Given the description of an element on the screen output the (x, y) to click on. 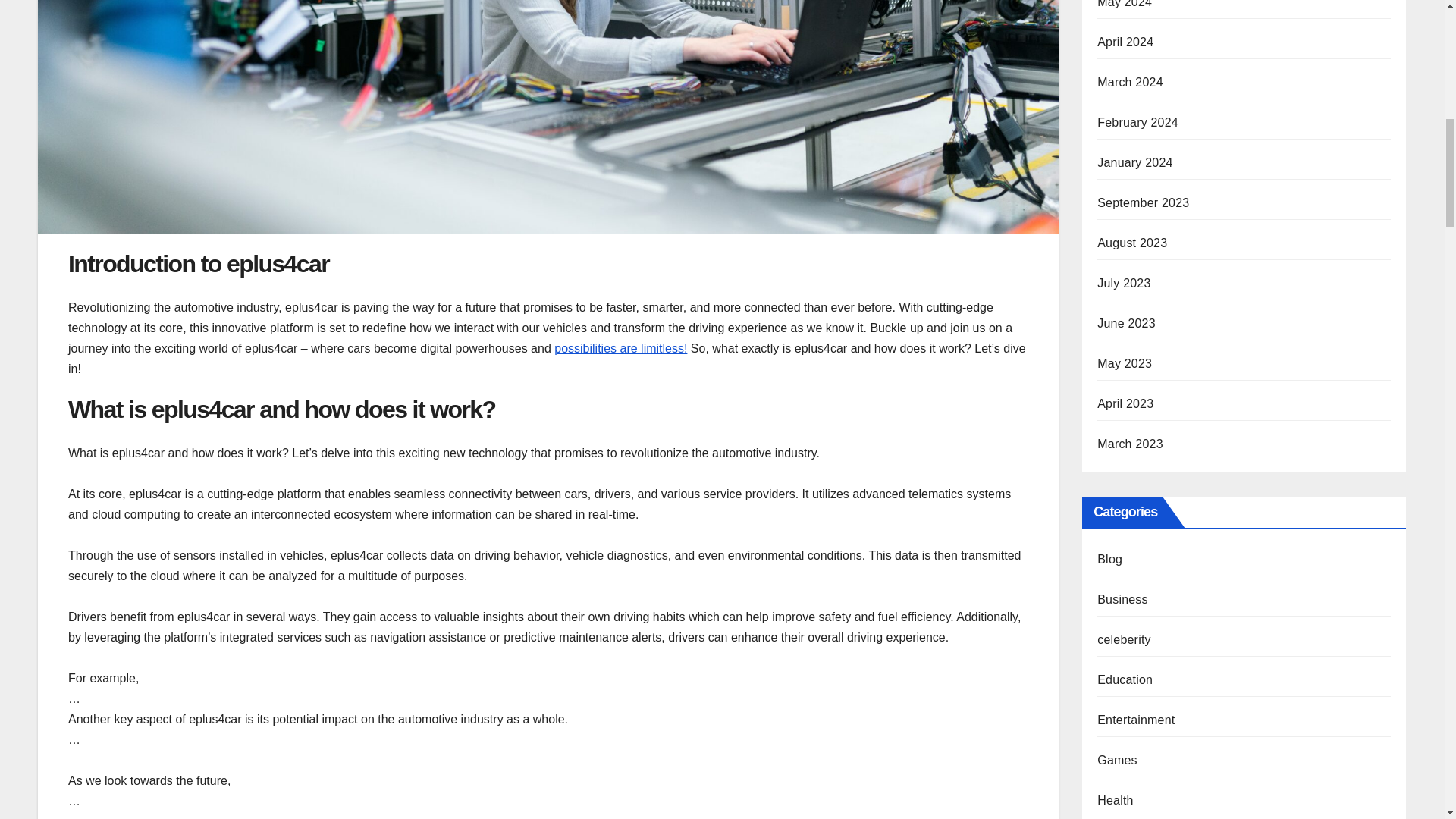
possibilities are limitless! (620, 348)
